Given the description of an element on the screen output the (x, y) to click on. 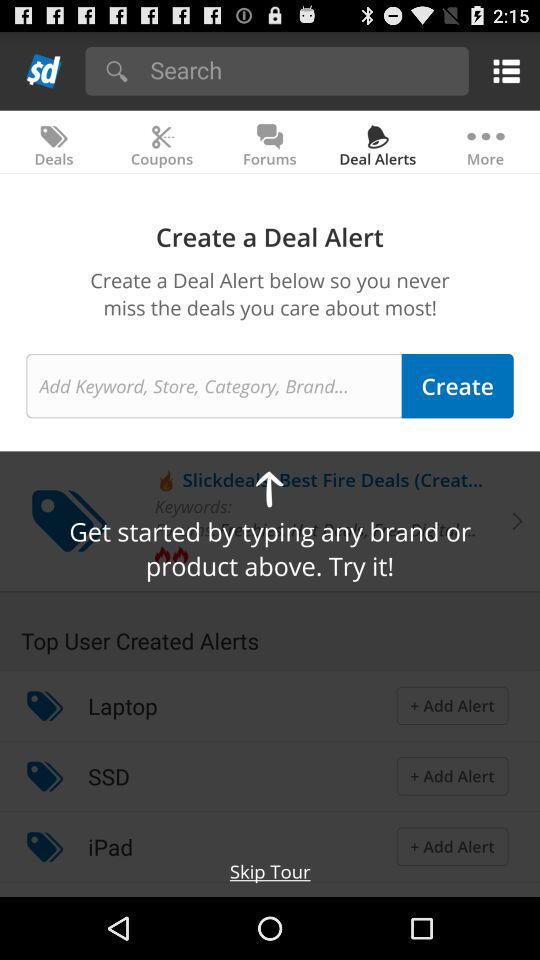
search for a deal (213, 385)
